Given the description of an element on the screen output the (x, y) to click on. 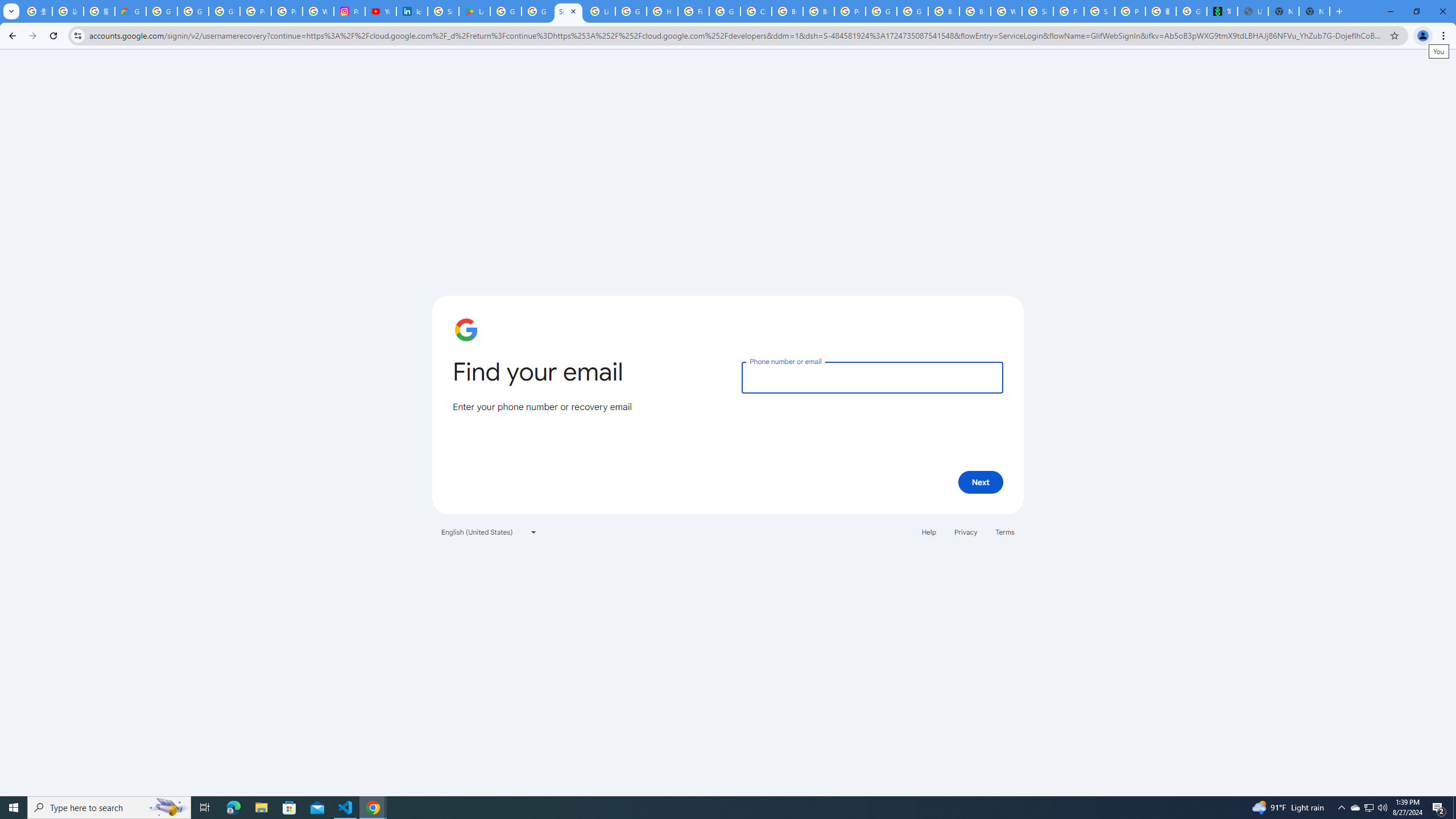
Google Cloud Platform (881, 11)
Sign in - Google Accounts (1037, 11)
Reload (52, 35)
